Given the description of an element on the screen output the (x, y) to click on. 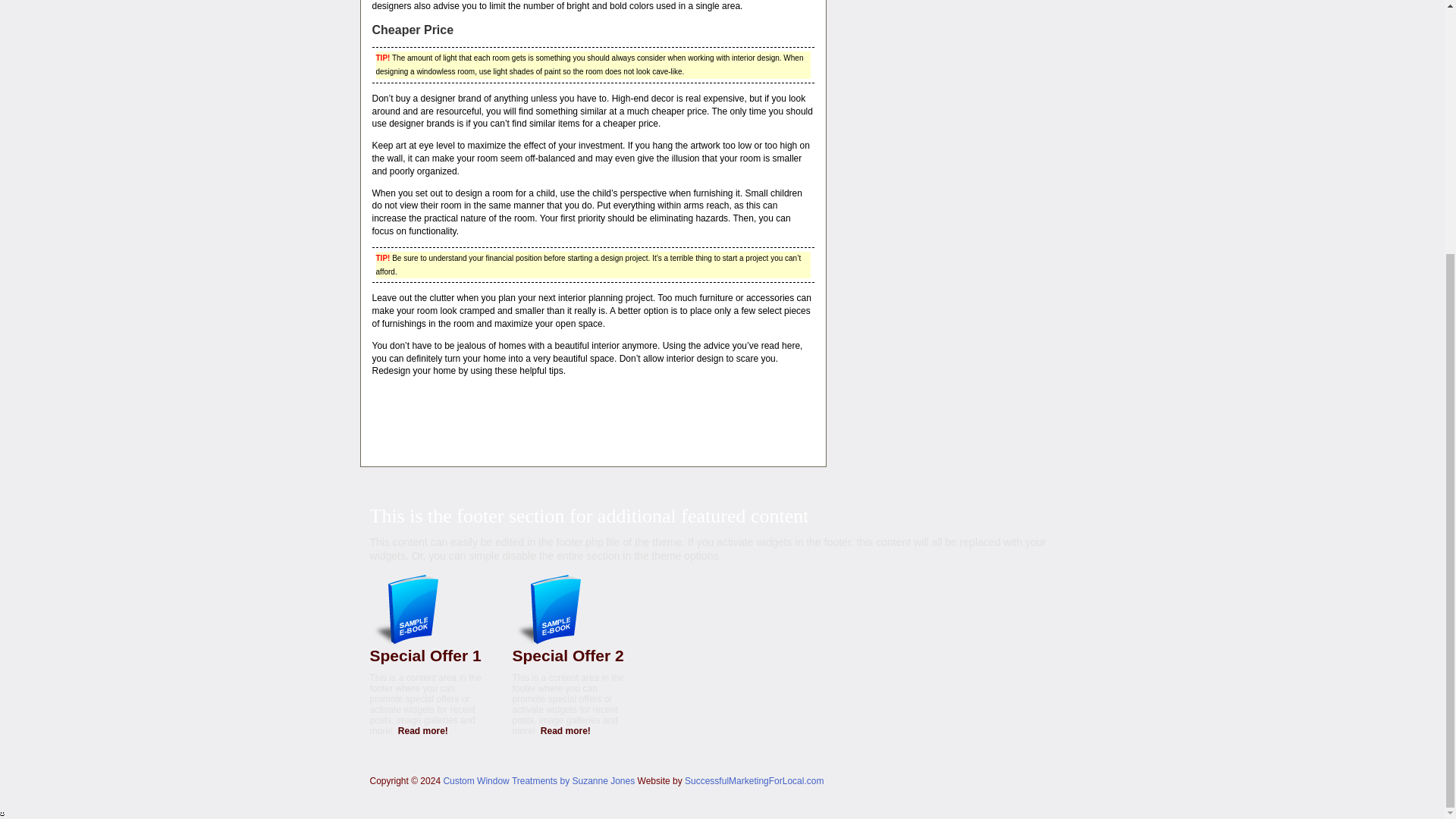
Advertisement (592, 409)
Read more! (422, 730)
SuccessfulMarketingForLocal.com (754, 780)
Custom Window Treatments by Suzanne Jones (538, 780)
Read more! (565, 730)
